Given the description of an element on the screen output the (x, y) to click on. 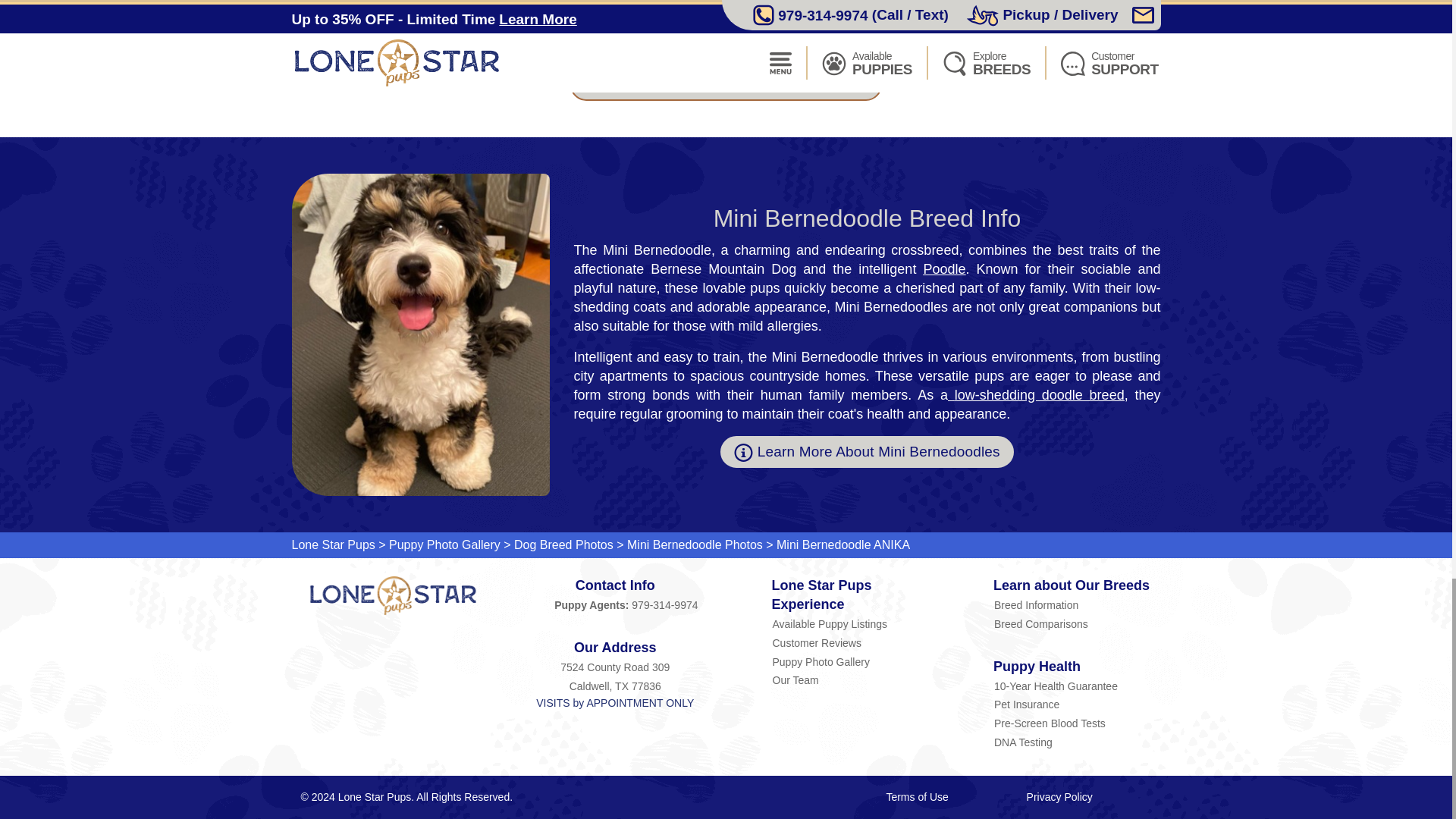
Available Puppy Listings (855, 624)
10-Year Health Guarantee (1076, 686)
Dog Breed Photos (562, 544)
7524 County Road 309 (615, 667)
Breed Information (1076, 605)
Puppy Agents: 979-314-9974 (615, 605)
Learn More About Mini Bernedoodles (866, 451)
Caldwell, TX 77836 (615, 686)
Lone Star Pups (332, 544)
low-shedding doodle breed (1039, 394)
Customer Reviews (855, 642)
Our Team (855, 679)
See More Comparisons to Similar Breeds (726, 84)
Lone Star Pups (393, 595)
Puppy Photo Gallery (444, 544)
